Given the description of an element on the screen output the (x, y) to click on. 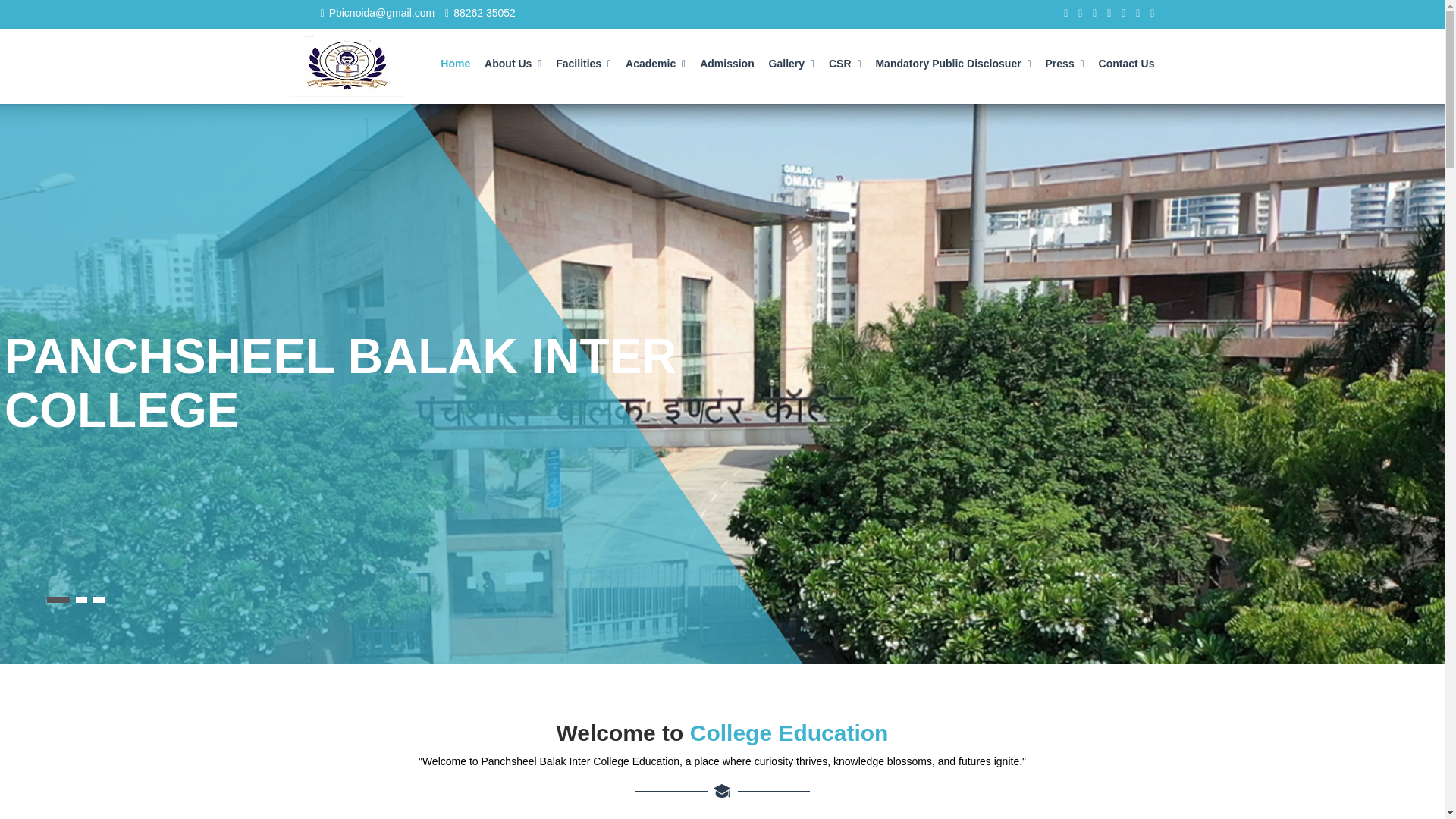
About Us (512, 57)
Admission (727, 57)
Academic (655, 57)
Facilities (583, 57)
